Given the description of an element on the screen output the (x, y) to click on. 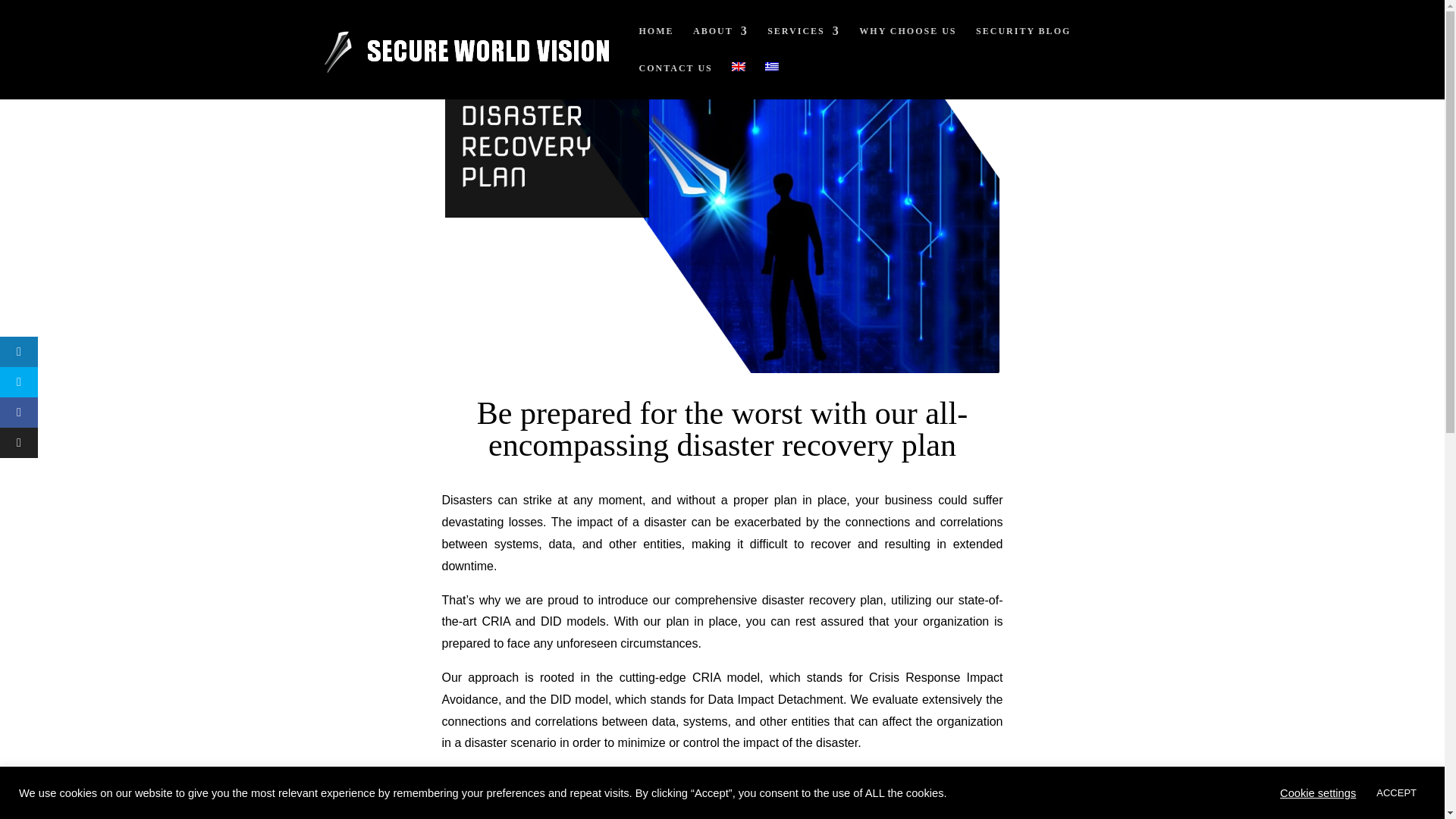
WHY CHOOSE US (907, 43)
ABOUT (720, 43)
CONTACT US (675, 81)
HOME (655, 43)
SECURITY BLOG (1022, 43)
SERVICES (803, 43)
